Given the description of an element on the screen output the (x, y) to click on. 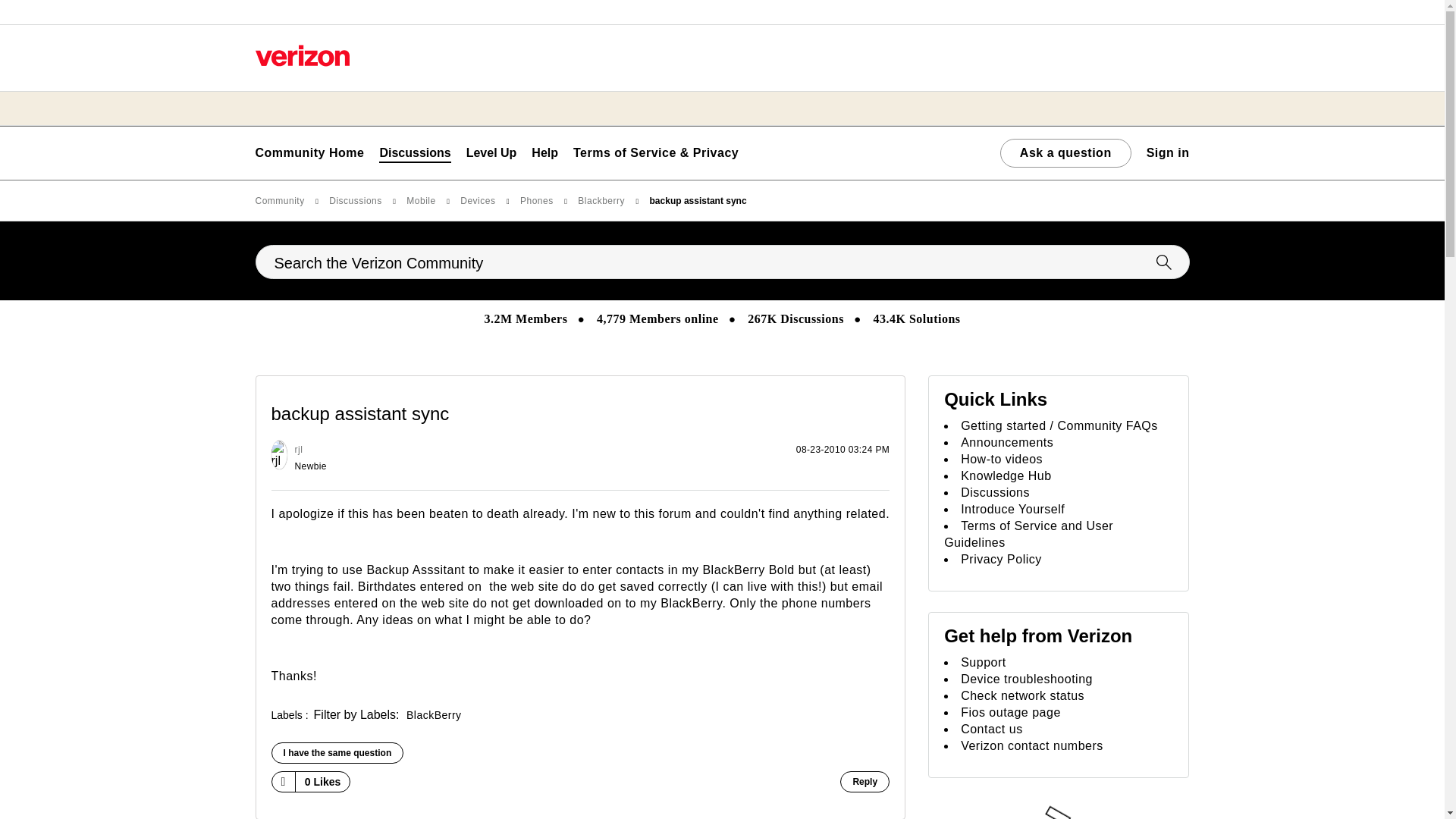
Click here to give likes to this post. (282, 781)
Search (721, 261)
The total number of likes this post has received. (322, 782)
Posted on (660, 457)
Click here if you had a similar experience (337, 752)
Verizon Home Page (301, 55)
